Given the description of an element on the screen output the (x, y) to click on. 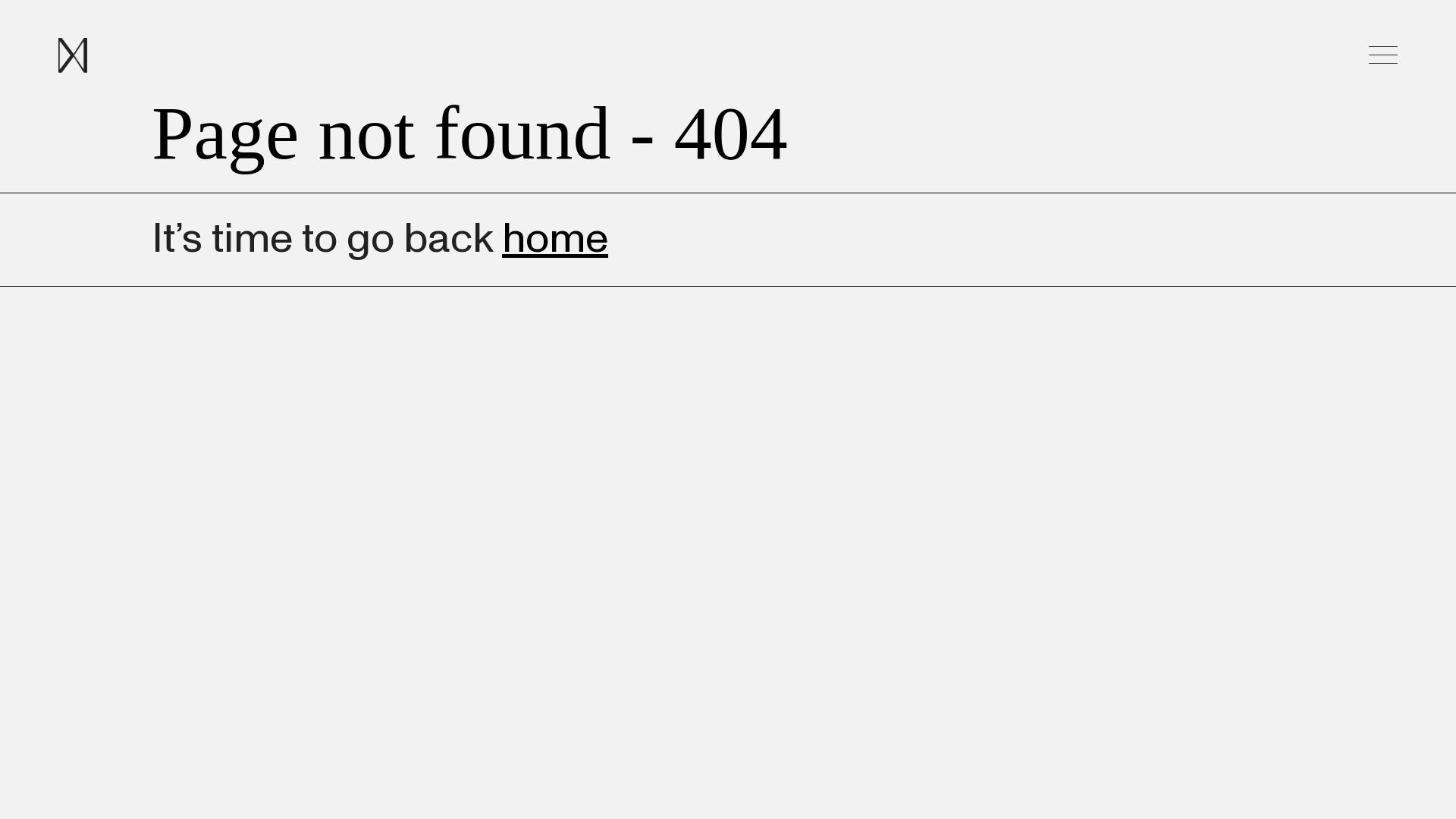
home Element type: text (555, 238)
